Given the description of an element on the screen output the (x, y) to click on. 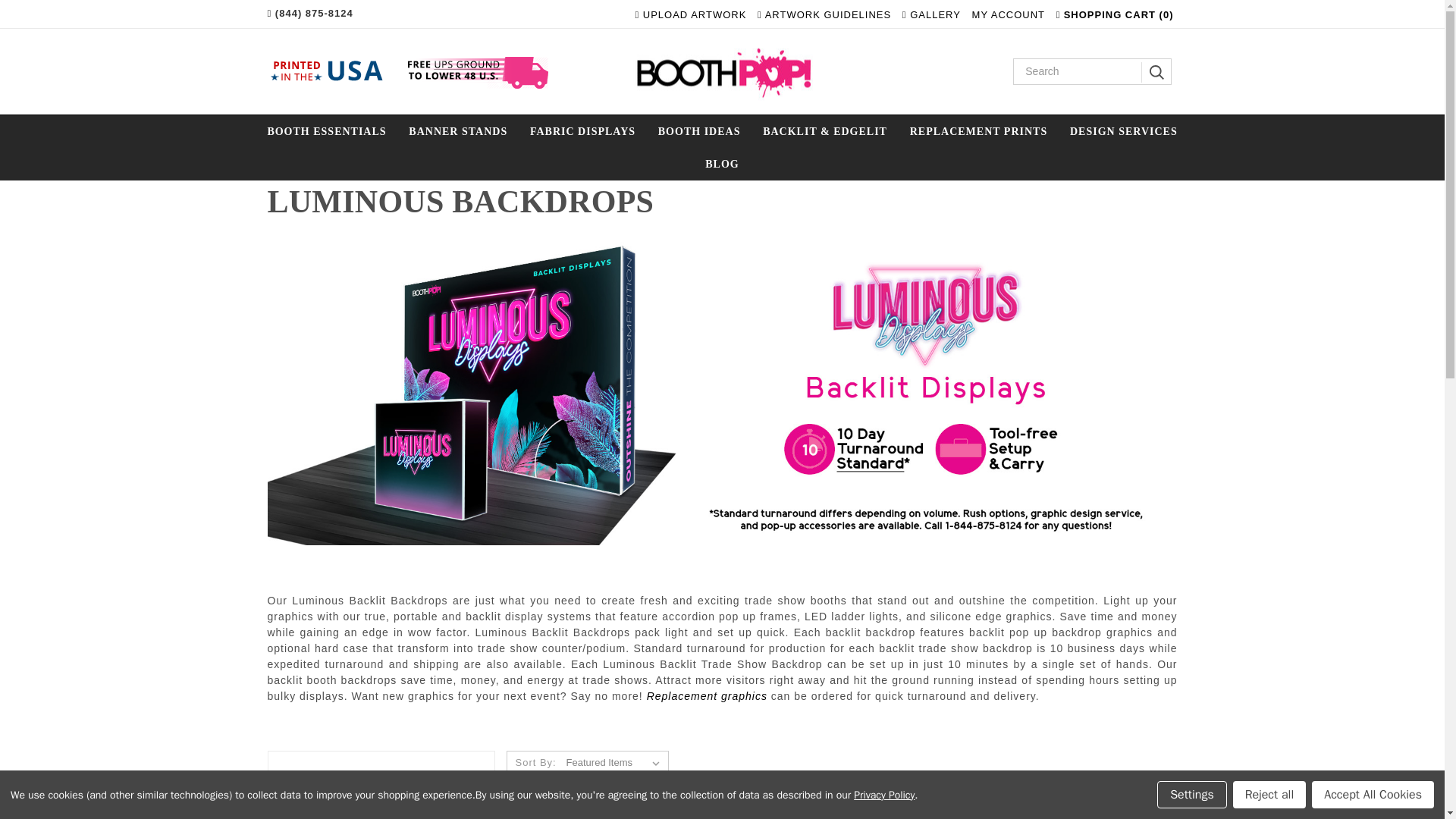
BANNER STANDS (457, 131)
UPLOAD ARTWORK (689, 14)
View Cart (1118, 14)
MY ACCOUNT (1008, 14)
BoothPop (718, 71)
ARTWORK GUIDELINES (824, 14)
BOOTH IDEAS (698, 131)
FABRIC DISPLAYS (582, 131)
GALLERY (931, 14)
BOOTH ESSENTIALS (326, 131)
